Given the description of an element on the screen output the (x, y) to click on. 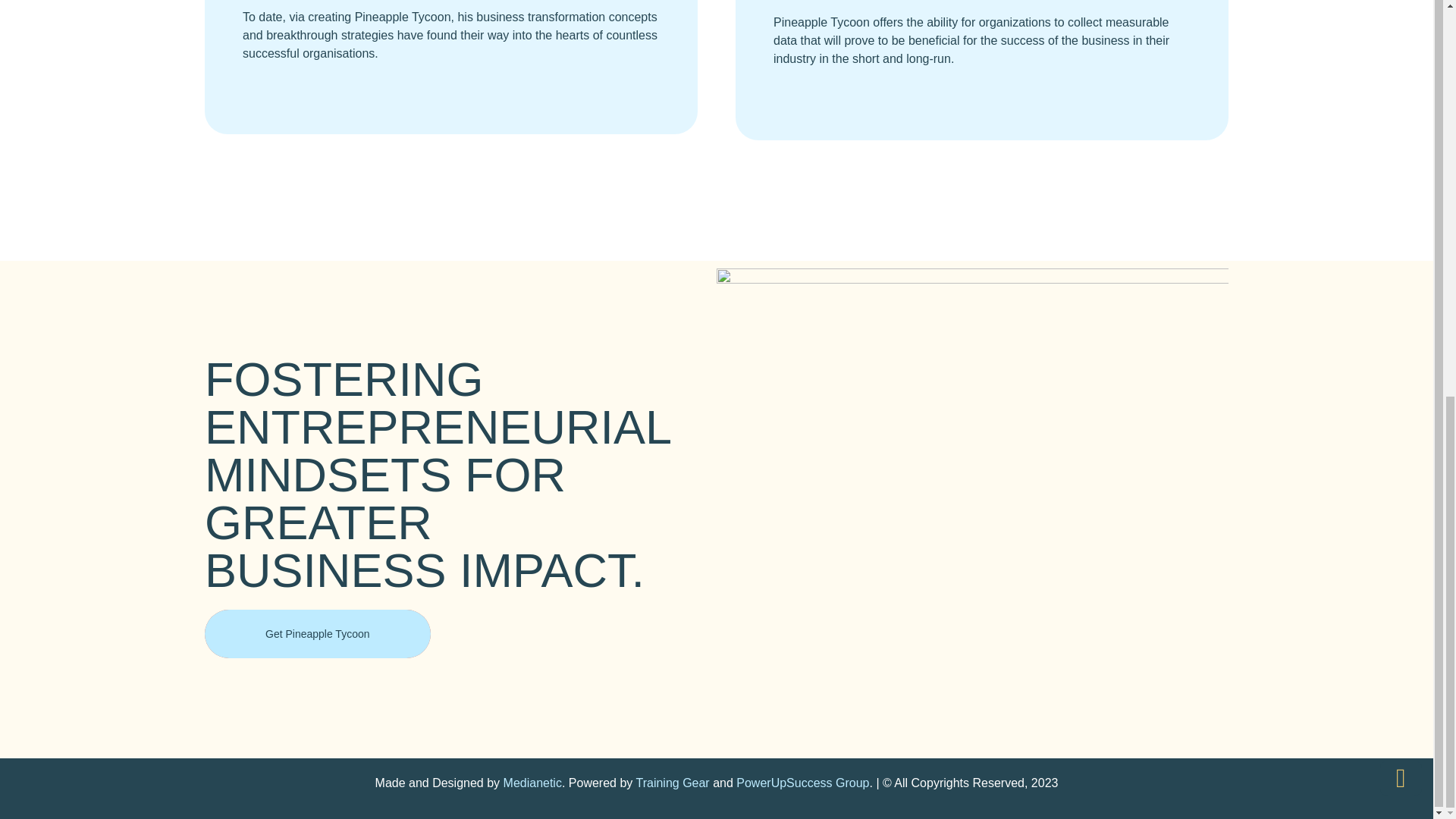
Get Pineapple Tycoon (317, 633)
Medianetic (532, 782)
PowerUpSuccess Group (802, 782)
Training Gear (670, 782)
